Given the description of an element on the screen output the (x, y) to click on. 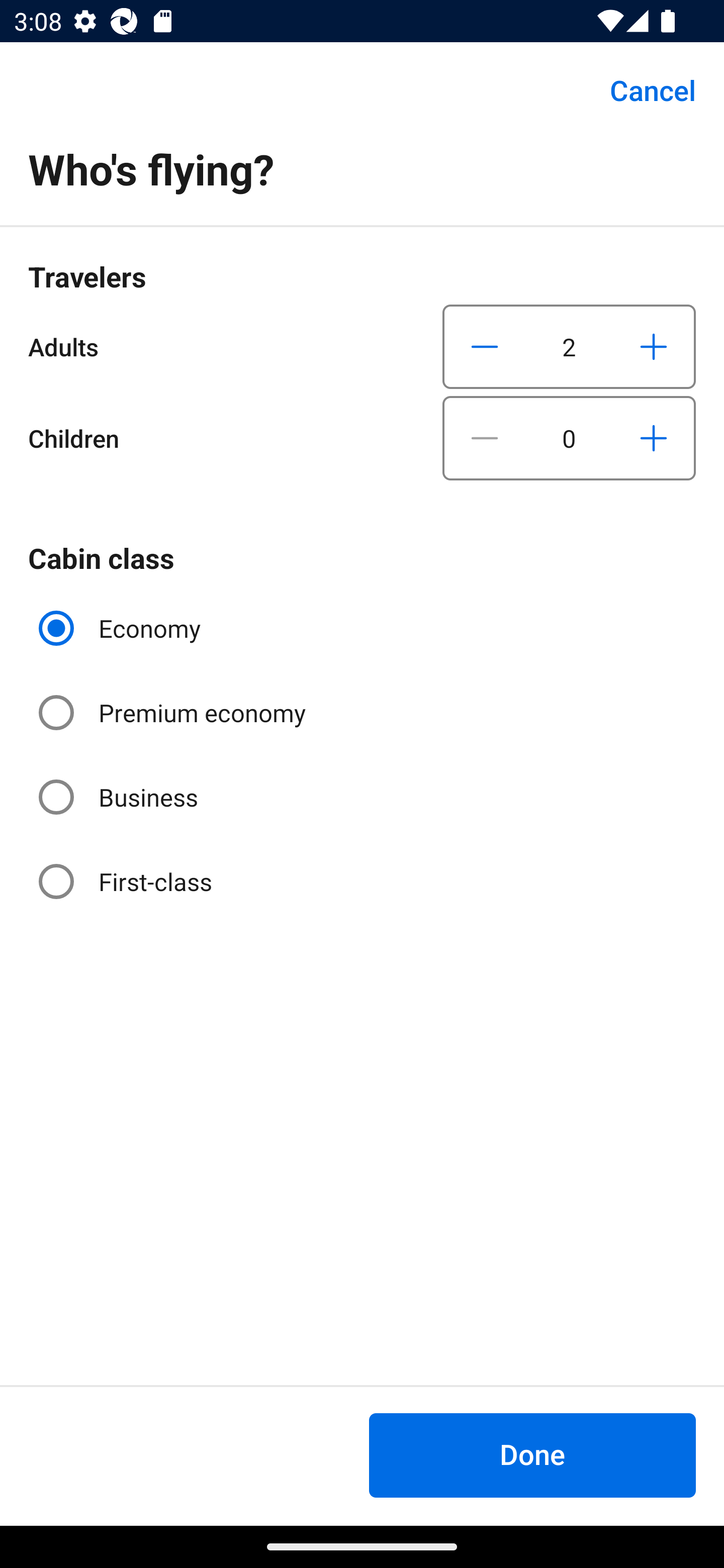
Cancel (641, 90)
Decrease (484, 346)
Increase (653, 346)
Decrease (484, 437)
Increase (653, 437)
Economy (121, 628)
Premium economy (174, 712)
Business (120, 796)
First-class (126, 880)
Done (532, 1454)
